Given the description of an element on the screen output the (x, y) to click on. 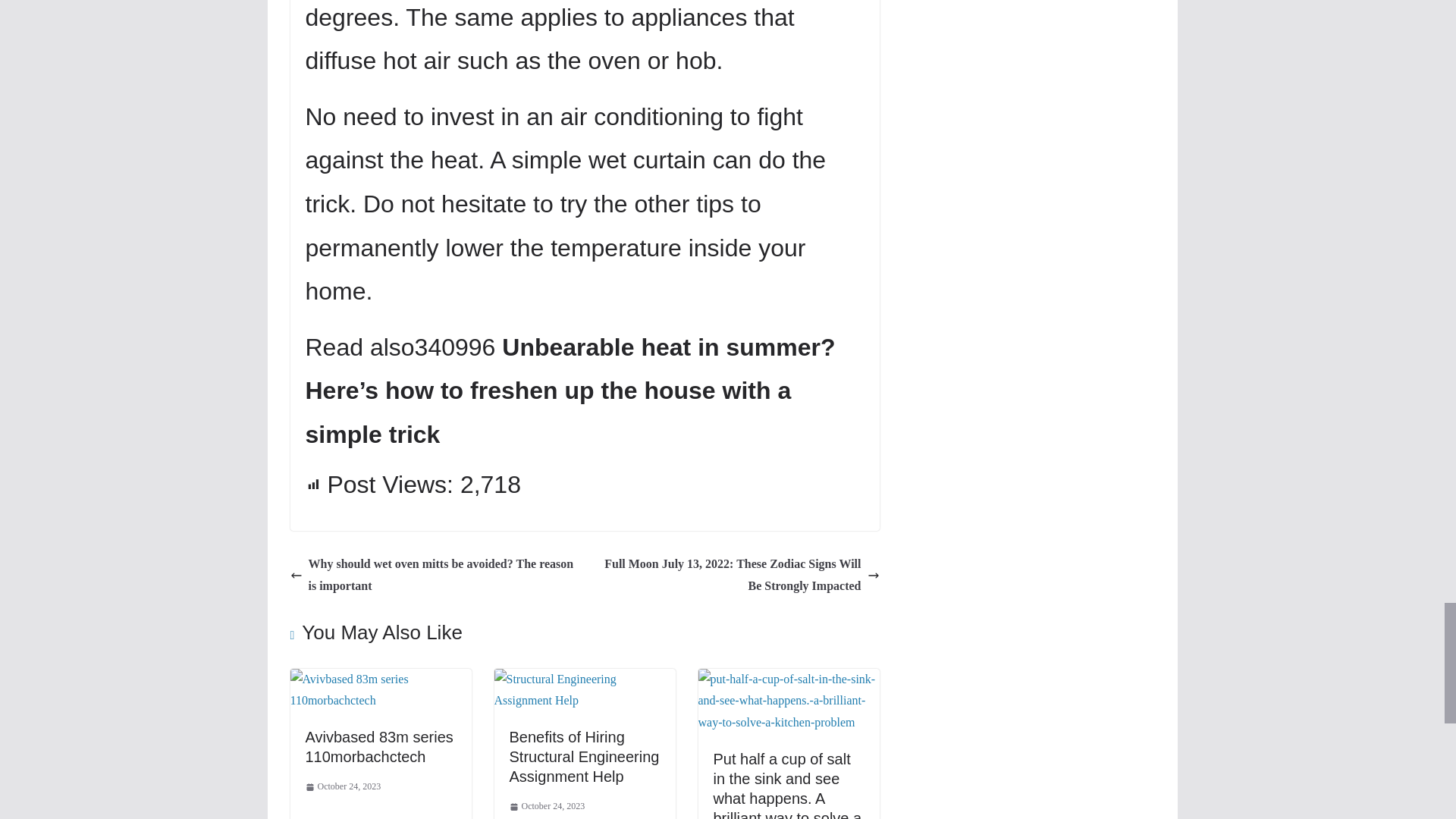
Avivbased 83m series 110morbachctech (379, 678)
October 24, 2023 (547, 806)
8:01 pm (342, 786)
8:29 pm (547, 806)
Benefits of Hiring Structural Engineering Assignment Help (585, 678)
Avivbased 83m series 110morbachctech (378, 746)
Benefits of Hiring Structural Engineering Assignment Help (584, 756)
Avivbased 83m series 110morbachctech (378, 746)
